Given the description of an element on the screen output the (x, y) to click on. 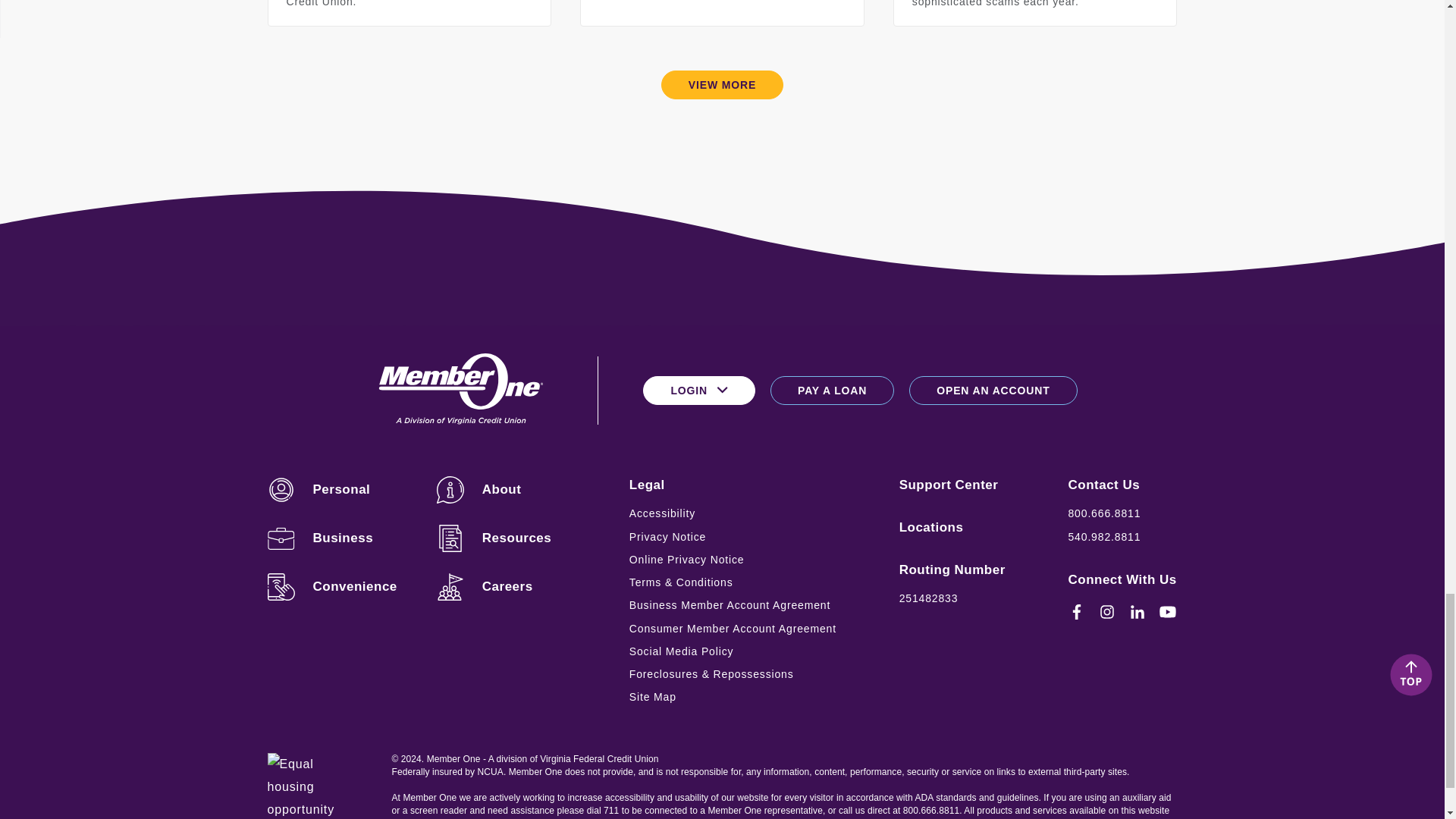
Visit us on LinkedIn (1137, 611)
Visit us on YouTube (1167, 611)
Visit us on Instagram (1106, 611)
Visit us on Facebook (1076, 611)
